Given the description of an element on the screen output the (x, y) to click on. 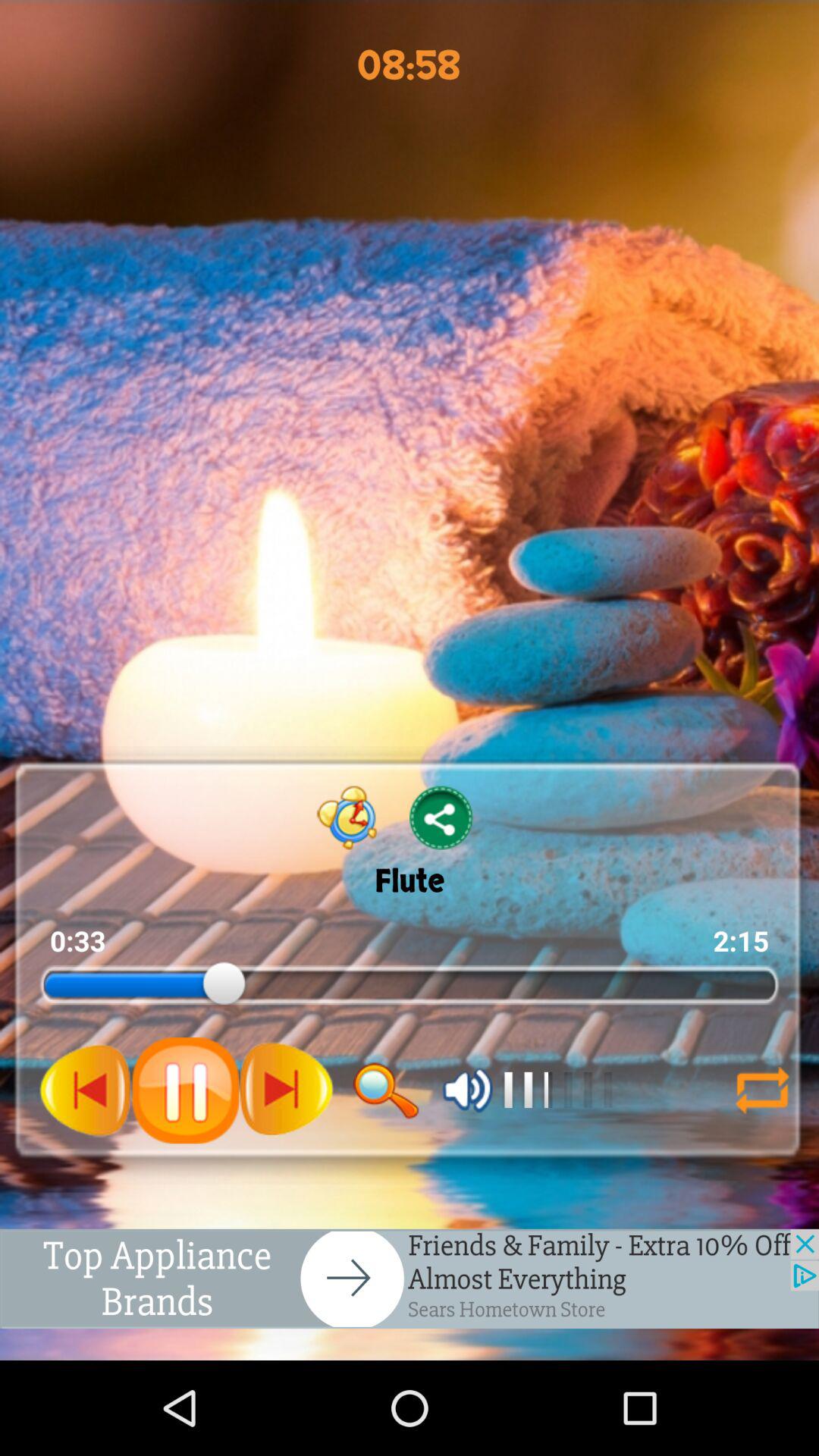
go to arrow (755, 1089)
